Given the description of an element on the screen output the (x, y) to click on. 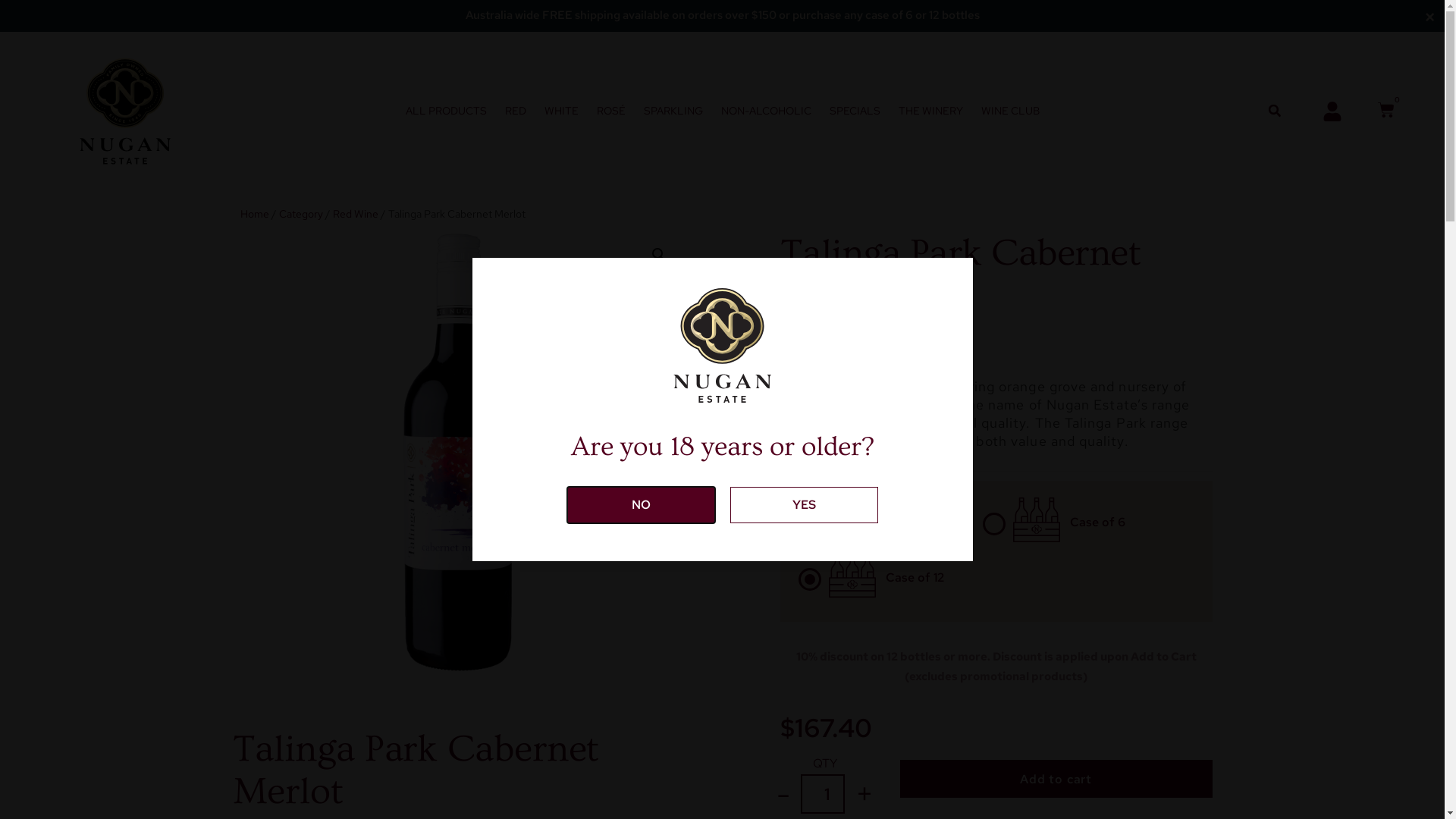
ALL PRODUCTS Element type: text (445, 110)
THE WINERY Element type: text (930, 110)
SPECIALS Element type: text (854, 110)
Qty Element type: hover (822, 793)
Red Wine Element type: text (354, 213)
Skip to content Element type: text (11, 31)
WHITE Element type: text (560, 110)
Home Element type: text (253, 213)
WINE CLUB Element type: text (1009, 110)
RED Element type: text (514, 110)
Category Element type: text (301, 213)
Talinga-Park-Cabernet-Merlot-1.jpg Element type: hover (458, 454)
NO Element type: text (641, 504)
Add to cart Element type: text (1055, 778)
YES Element type: text (803, 504)
SPARKLING Element type: text (673, 110)
0 Element type: text (1386, 110)
NON-ALCOHOLIC Element type: text (766, 110)
